Given the description of an element on the screen output the (x, y) to click on. 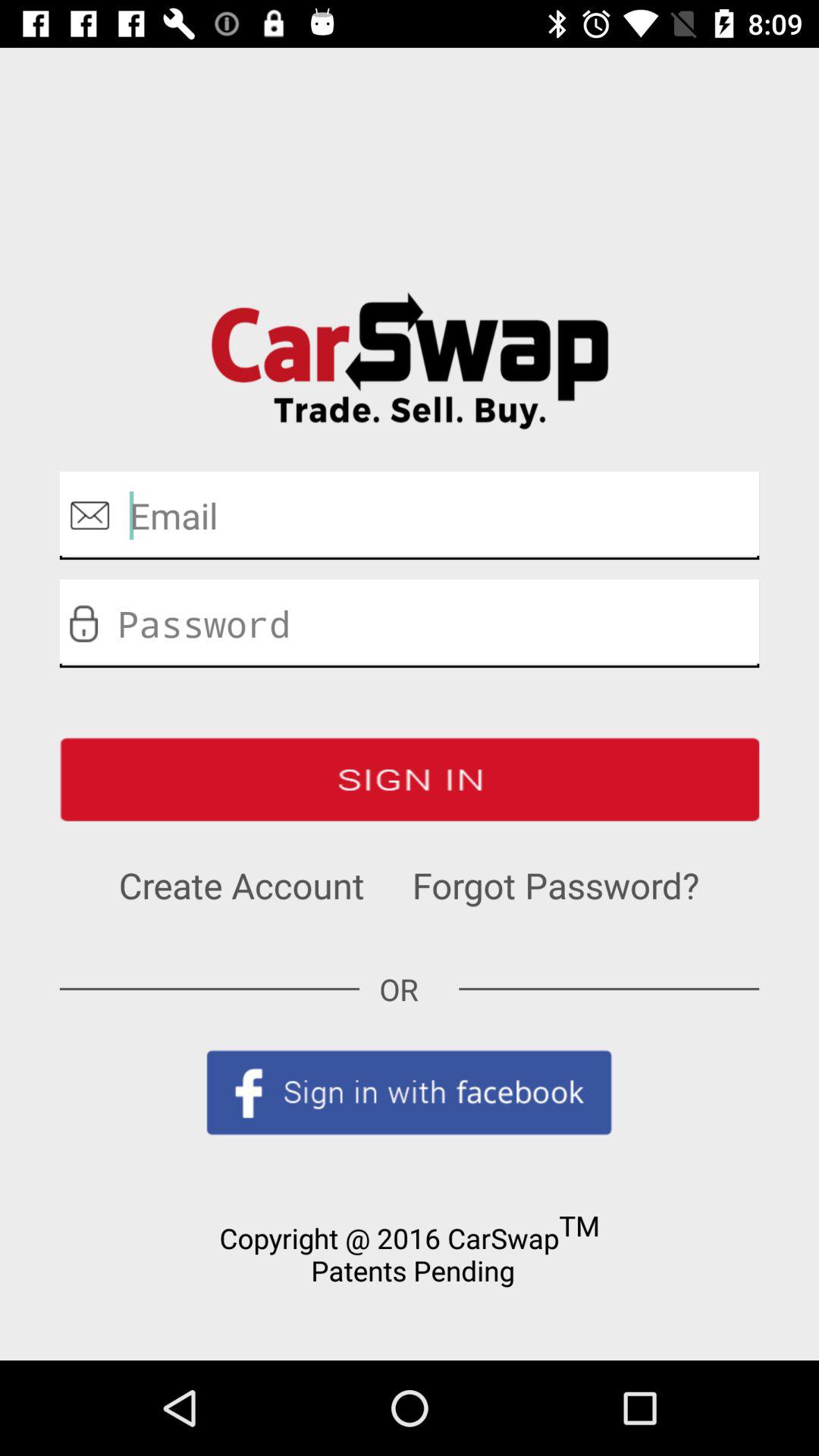
type in password (409, 623)
